Given the description of an element on the screen output the (x, y) to click on. 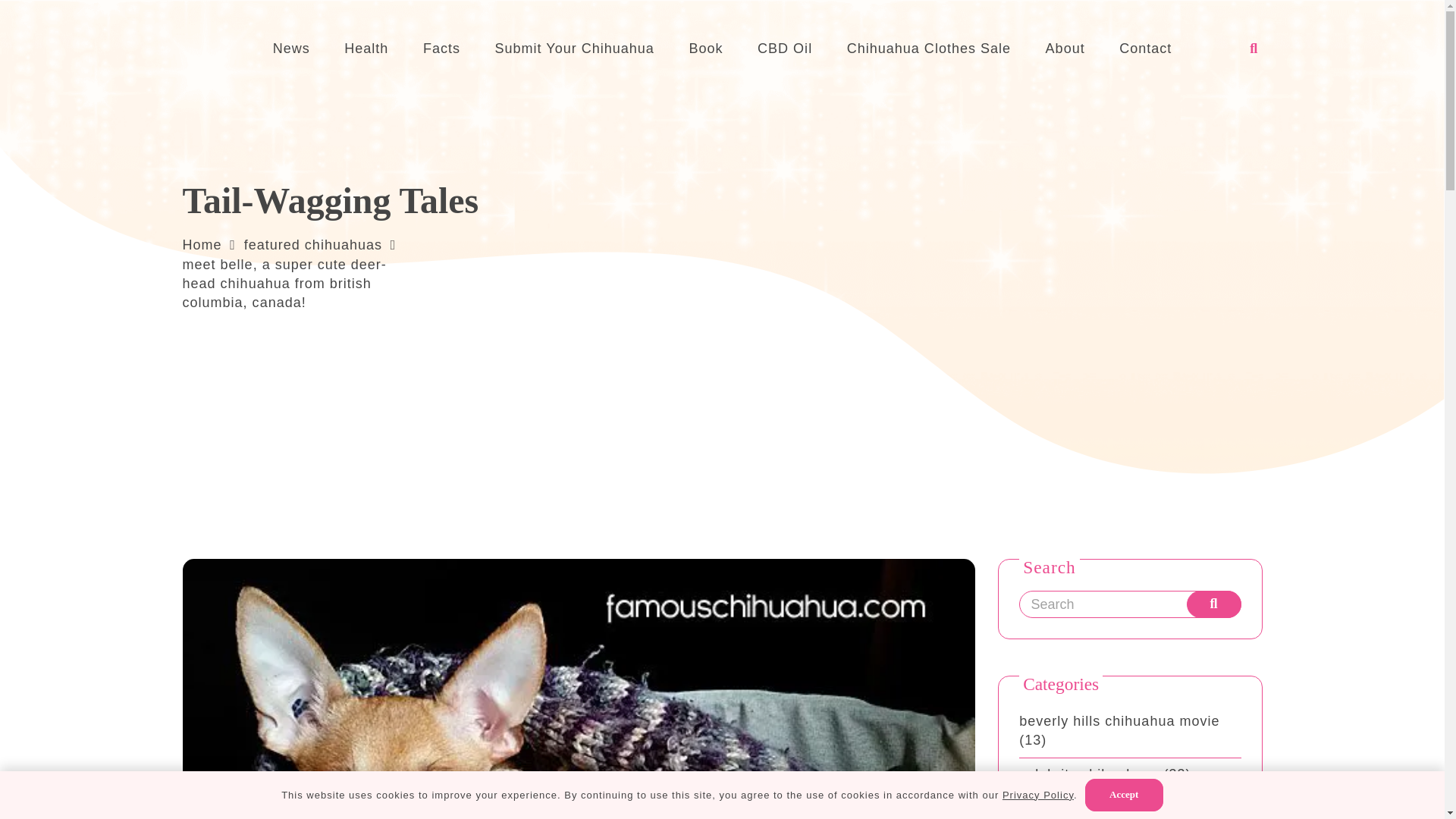
News (291, 48)
Submit Your Chihuahua For a Feature (575, 48)
Organic CBD Hemp Oil For Chihuahuas (784, 48)
Facts (441, 48)
Chihuahua Health (366, 48)
About (1064, 48)
Chihuahua Book (705, 48)
Contact Famous Chihuahua (1145, 48)
Chihuahua Clothes Sale (928, 48)
Book (705, 48)
celebrity chihuahuas (1088, 774)
Chihuahua Facts (441, 48)
chihuahua books (1076, 807)
beverly hills chihuahua movie (1119, 720)
